Given the description of an element on the screen output the (x, y) to click on. 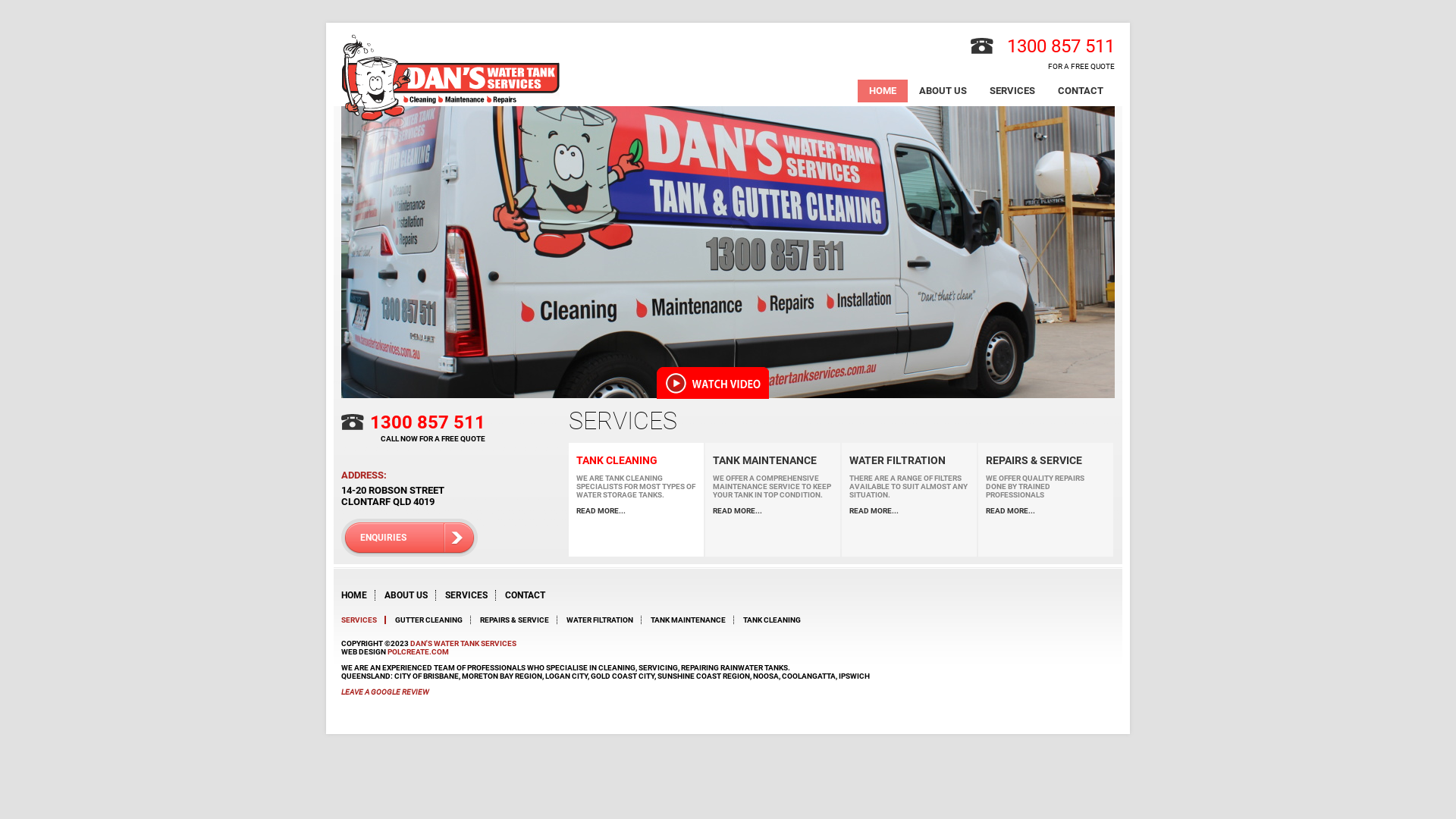
DAN'S WATER TANK SERVICES Element type: text (463, 643)
REPAIRS & SERVICE Element type: text (1045, 460)
SERVICES Element type: text (466, 594)
GUTTER CLEANING Element type: text (432, 619)
TANK MAINTENANCE Element type: text (772, 460)
SERVICES Element type: text (1012, 90)
CONTACT Element type: text (1080, 90)
READ MORE... Element type: text (772, 510)
ABOUT US Element type: text (942, 90)
TANK CLEANING Element type: text (636, 460)
ABOUT US Element type: text (405, 594)
READ MORE... Element type: text (909, 510)
READ MORE... Element type: text (636, 510)
TANK CLEANING Element type: text (775, 619)
POLCREATE.COM Element type: text (417, 651)
HOME Element type: text (882, 90)
CONTACT Element type: text (525, 594)
TANK MAINTENANCE Element type: text (692, 619)
LEAVE A GOOGLE REVIEW Element type: text (385, 691)
READ MORE... Element type: text (1045, 510)
ENQUIRIES Element type: text (409, 537)
REPAIRS & SERVICE Element type: text (518, 619)
HOME Element type: text (354, 594)
WATER FILTRATION Element type: text (603, 619)
WATER FILTRATION Element type: text (909, 460)
